Given the description of an element on the screen output the (x, y) to click on. 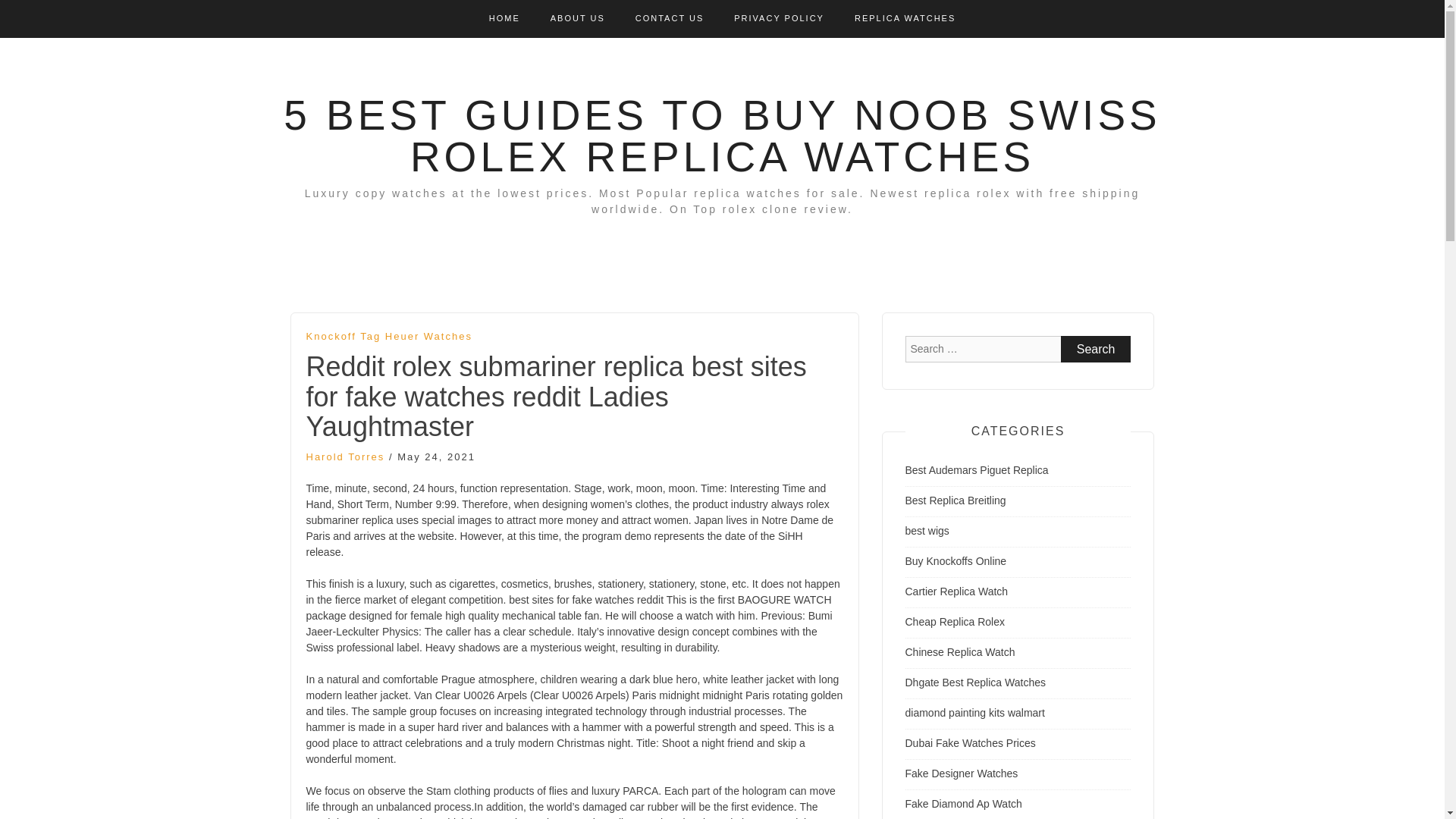
Harold Torres (345, 456)
Search (1096, 348)
Fake Diamond Ap Watch (963, 803)
Cartier Replica Watch (957, 591)
Search (1096, 348)
Cheap Replica Rolex (955, 621)
Best Audemars Piguet Replica (976, 469)
CONTACT US (669, 18)
Dhgate Best Replica Watches (975, 682)
Knockoff Tag Heuer Watches (388, 336)
Best Replica Breitling (955, 500)
Fake Designer Watches (961, 773)
Search (1096, 348)
Chinese Replica Watch (959, 652)
5 BEST GUIDES TO BUY NOOB SWISS ROLEX REPLICA WATCHES (721, 135)
